Given the description of an element on the screen output the (x, y) to click on. 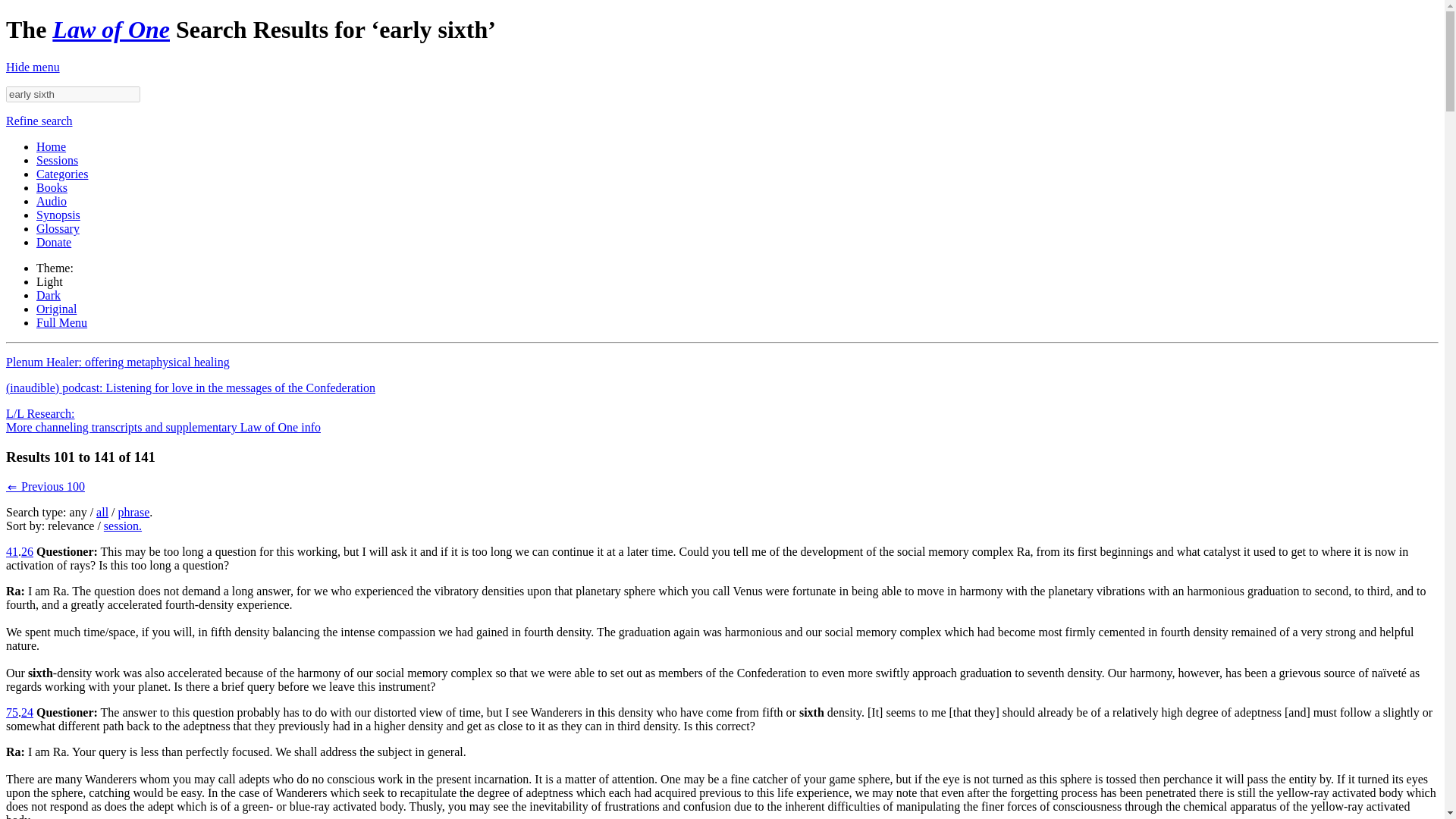
24 (27, 712)
75 (11, 712)
Dark (48, 295)
early sixth (72, 94)
41 (11, 551)
Home (50, 146)
phrase (133, 512)
Books (51, 187)
Sessions (57, 160)
Original (56, 308)
Full Menu (61, 322)
Audio (51, 201)
Donate (53, 241)
Hide menu (32, 66)
Categories (61, 173)
